Given the description of an element on the screen output the (x, y) to click on. 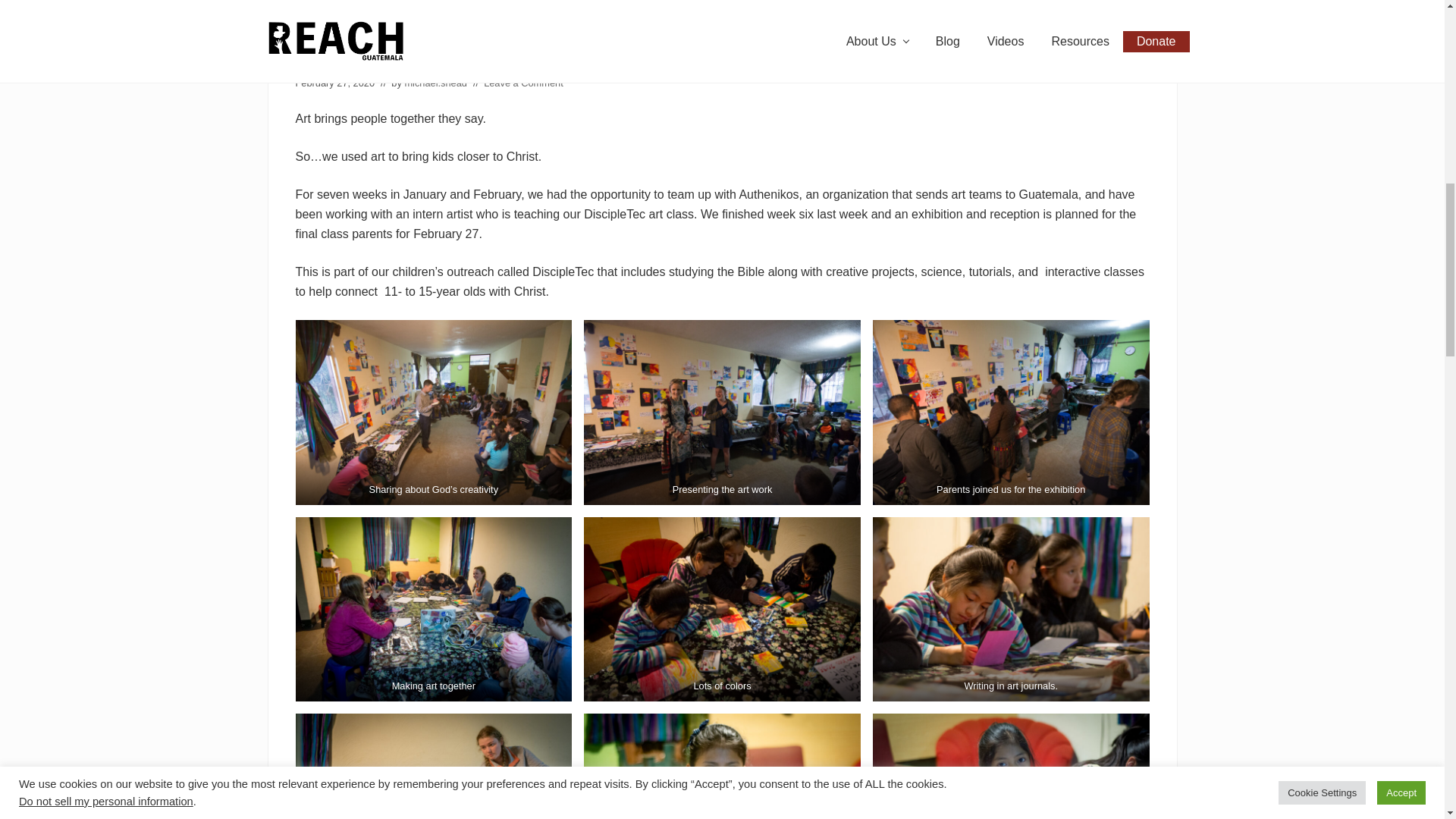
Leave a Comment (523, 82)
michael.shead (435, 82)
